Given the description of an element on the screen output the (x, y) to click on. 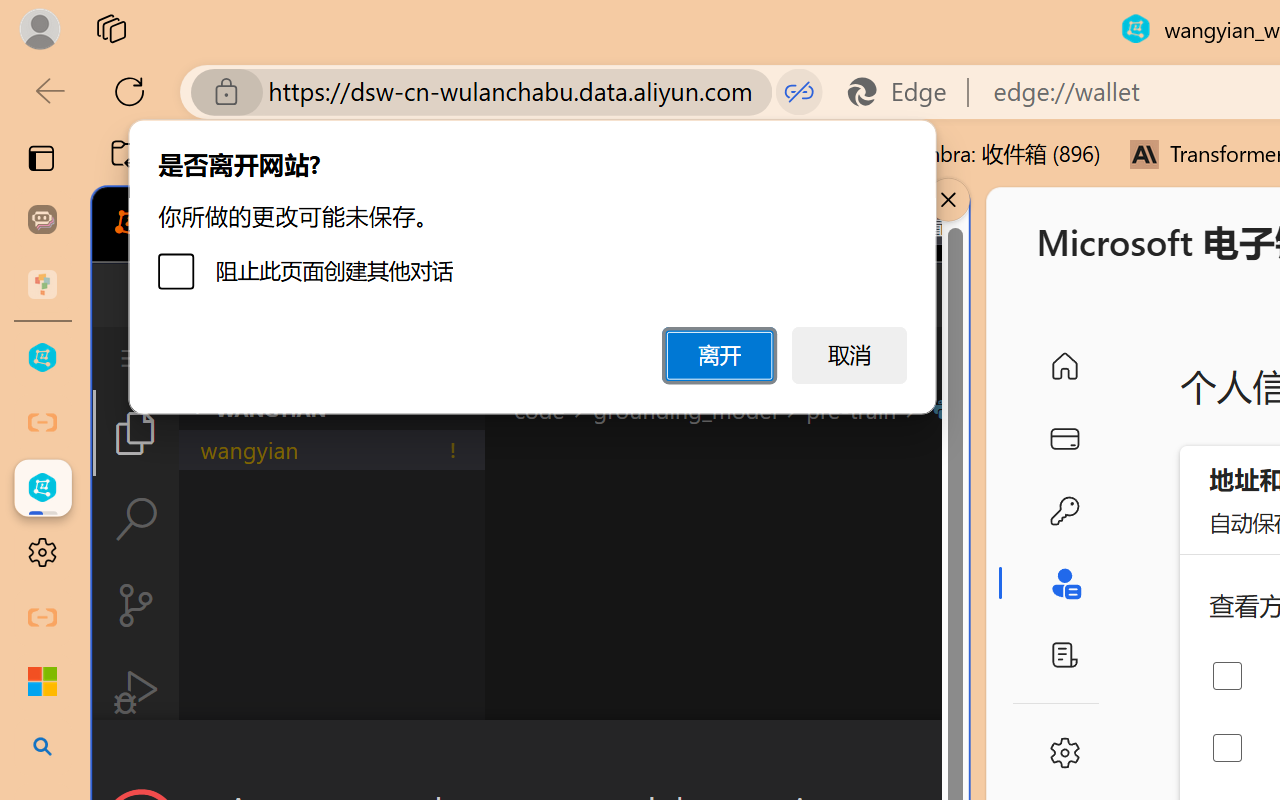
Class: actions-container (529, 756)
Run and Debug (Ctrl+Shift+D) (135, 692)
Microsoft security help and learning (42, 681)
Close Dialog (959, 756)
